Given the description of an element on the screen output the (x, y) to click on. 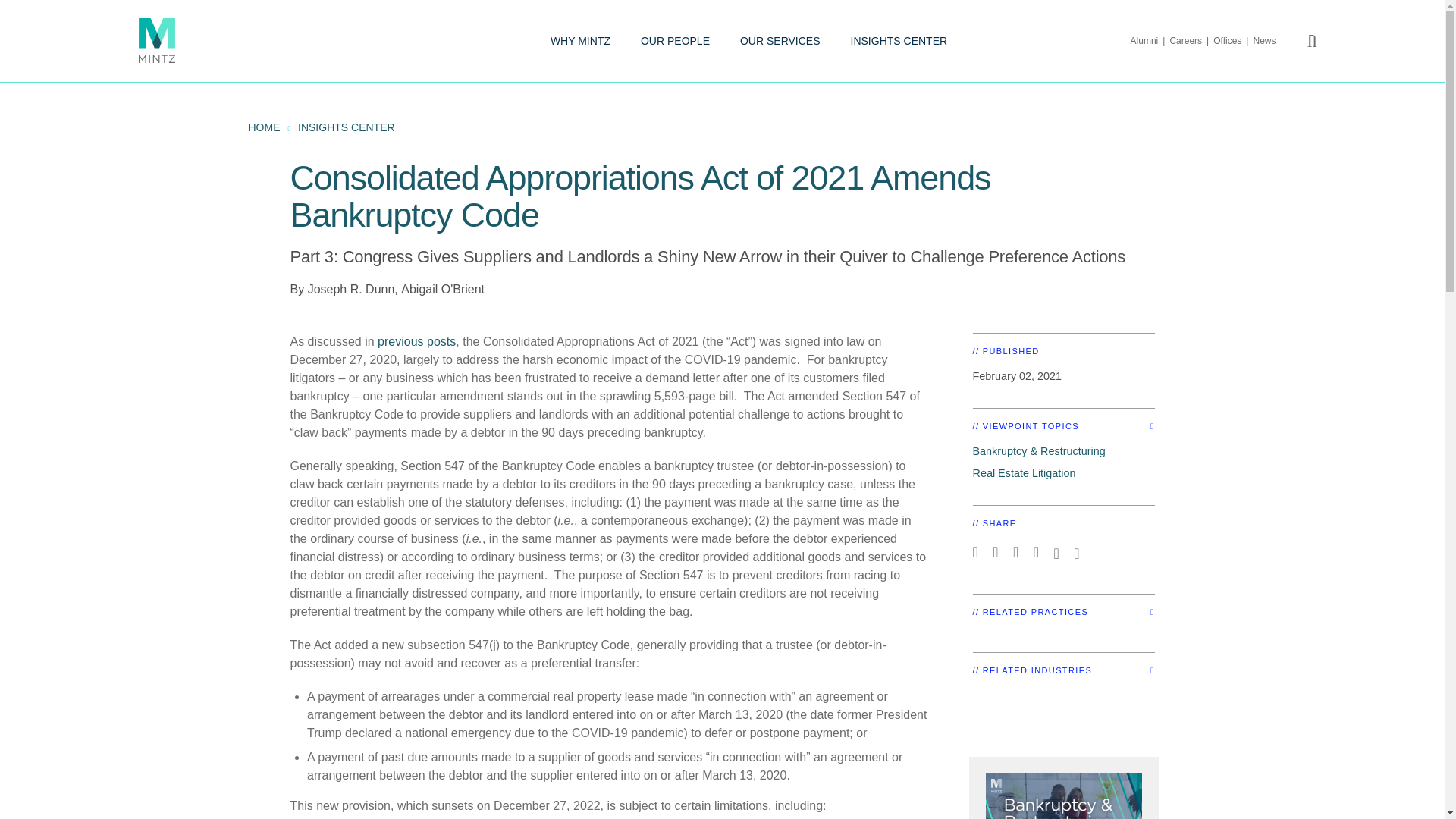
Abigail O'Brient (442, 288)
Careers (1190, 40)
Real Estate Litigation (1023, 472)
INSIGHTS CENTER (346, 127)
OUR PEOPLE (675, 40)
HOME (264, 127)
previous (400, 341)
Alumni (1150, 40)
Offices (1232, 40)
INSIGHTS CENTER (898, 40)
